Given the description of an element on the screen output the (x, y) to click on. 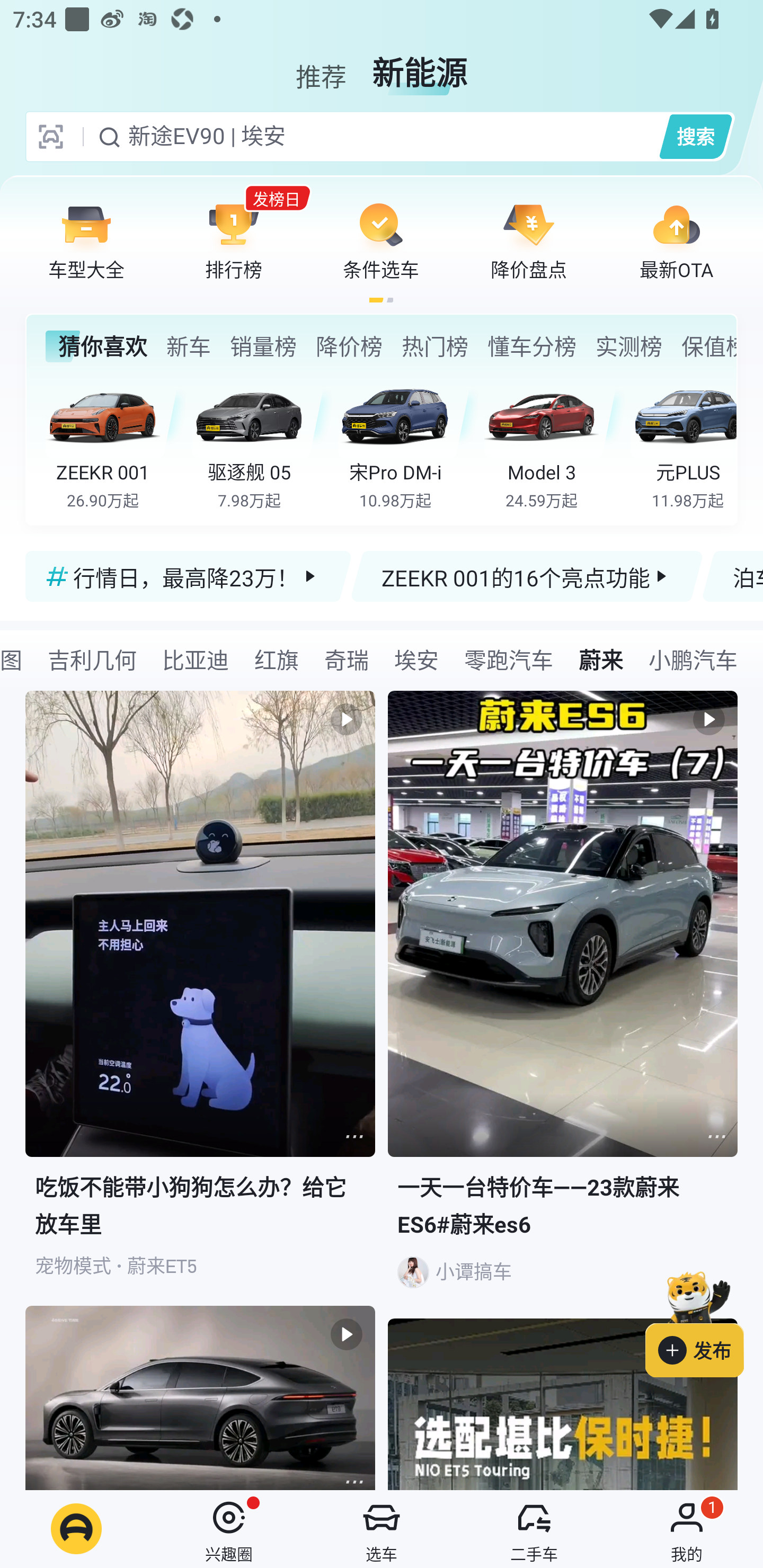
推荐 (321, 65)
新能源 (419, 65)
搜索 (695, 136)
车型大全 (86, 240)
发榜日 排行榜 (233, 240)
条件选车 (380, 240)
降价盘点 (528, 240)
最新OTA (676, 240)
猜你喜欢 (96, 346)
新车 (188, 346)
销量榜 (262, 346)
降价榜 (348, 346)
热门榜 (434, 346)
懂车分榜 (531, 346)
实测榜 (628, 346)
保值榜 (708, 346)
ZEEKR 001 26.90万起 (115, 442)
驱逐舰 05 7.98万起 (261, 442)
宋Pro DM-i 10.98万起 (407, 442)
Model 3 24.59万起 (554, 442)
元PLUS 11.98万起 (683, 442)
行情日，最高降23万！ (188, 576)
ZEEKR 001的16个亮点功能 (526, 576)
吉利几何 (92, 659)
比亚迪 (195, 659)
红旗 (276, 659)
奇瑞 (346, 659)
埃安 (416, 659)
零跑汽车 (508, 659)
蔚来 (600, 659)
小鹏汽车 (692, 659)
  吃饭不能带小狗狗怎么办？给它放车里 宠物模式 蔚来ET5 (200, 998)
  一天一台特价车——23款蔚来ES6#蔚来es6 小谭搞车 (562, 1004)
 (354, 1136)
 (716, 1136)
蔚来ET5 (161, 1266)
发布 (704, 1320)
  (200, 1397)
 (562, 1403)
 兴趣圈 (228, 1528)
 选车 (381, 1528)
 二手车 (533, 1528)
 我的 (686, 1528)
